Given the description of an element on the screen output the (x, y) to click on. 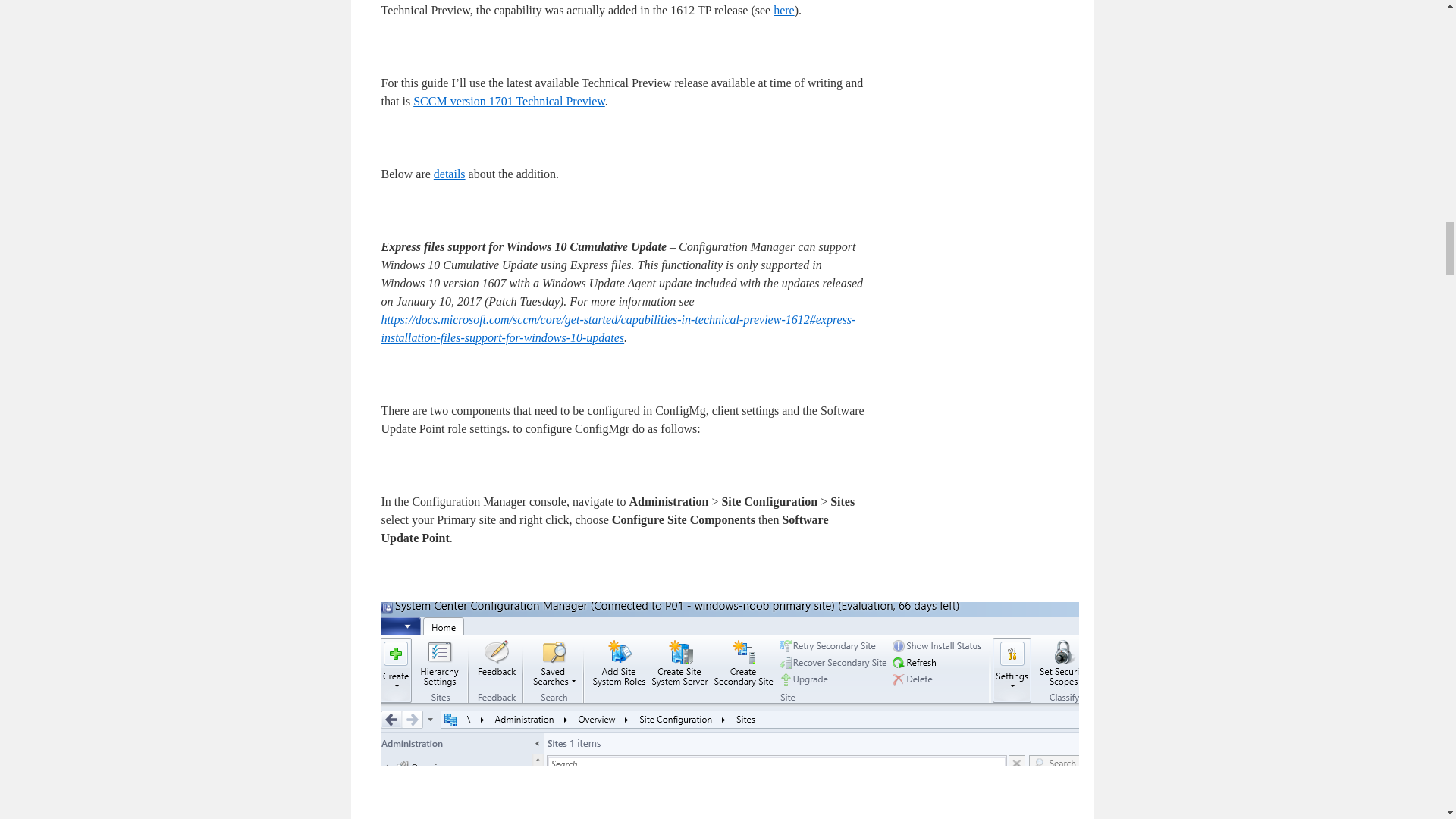
details (449, 173)
here (783, 10)
SCCM version 1701 Technical Preview (509, 101)
